Given the description of an element on the screen output the (x, y) to click on. 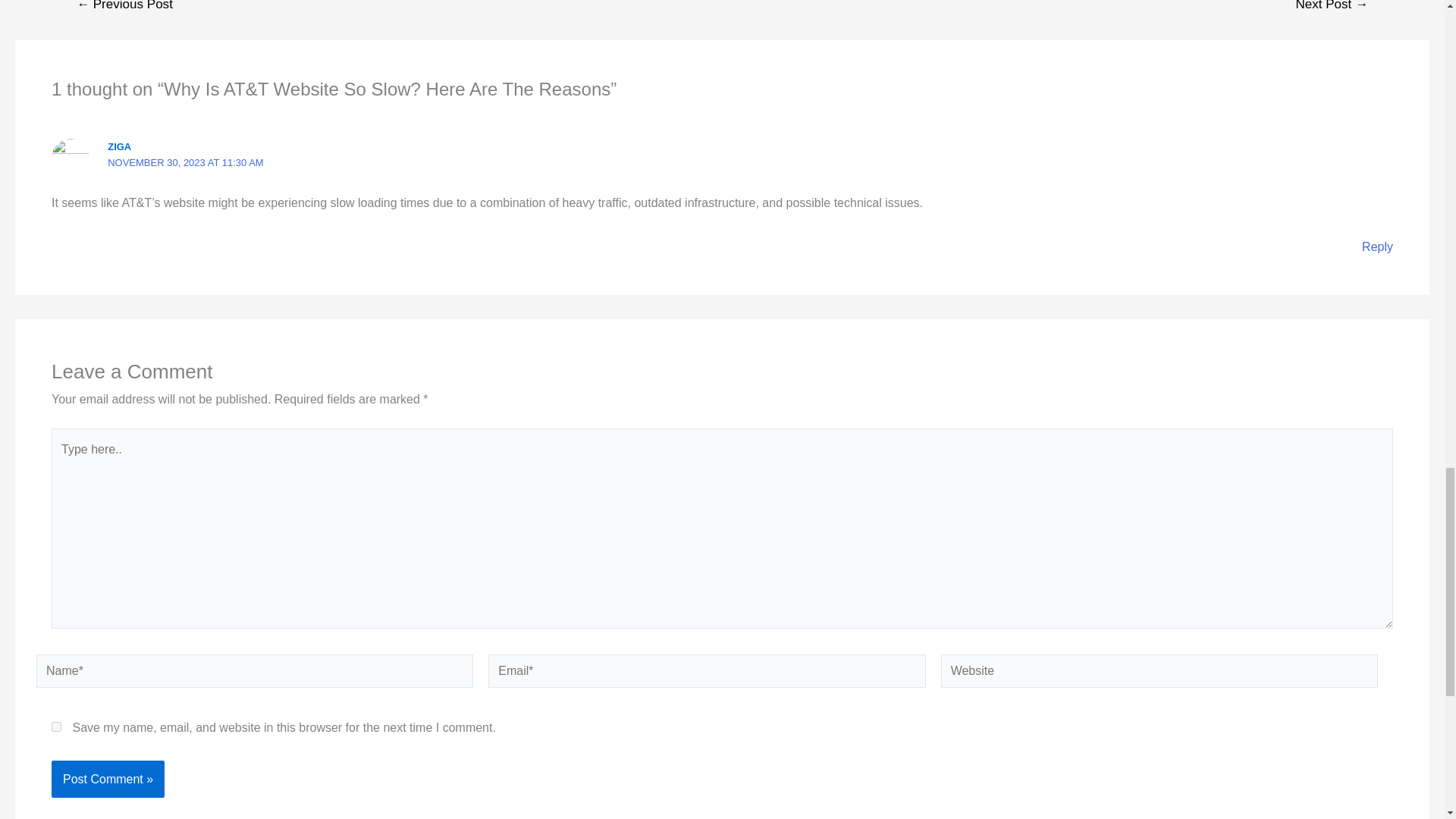
yes (55, 726)
NOVEMBER 30, 2023 AT 11:30 AM (185, 162)
Reply (1377, 246)
